Given the description of an element on the screen output the (x, y) to click on. 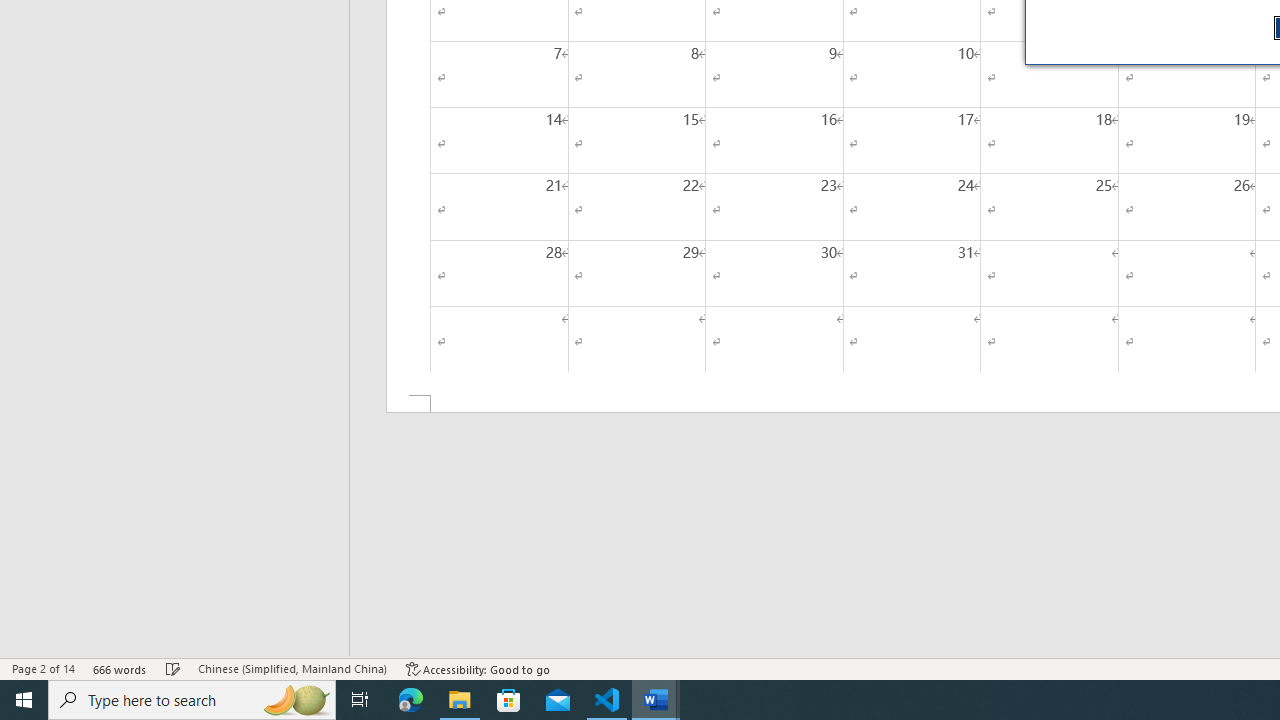
File Explorer - 1 running window (460, 699)
Visual Studio Code - 1 running window (607, 699)
Task View (359, 699)
Microsoft Store (509, 699)
Accessibility Checker Accessibility: Good to go (478, 668)
Page Number Page 2 of 14 (43, 668)
Word - 2 running windows (656, 699)
Type here to search (191, 699)
Spelling and Grammar Check Checking (173, 668)
Microsoft Edge (411, 699)
Search highlights icon opens search home window (295, 699)
Start (24, 699)
Word Count 666 words (119, 668)
